Given the description of an element on the screen output the (x, y) to click on. 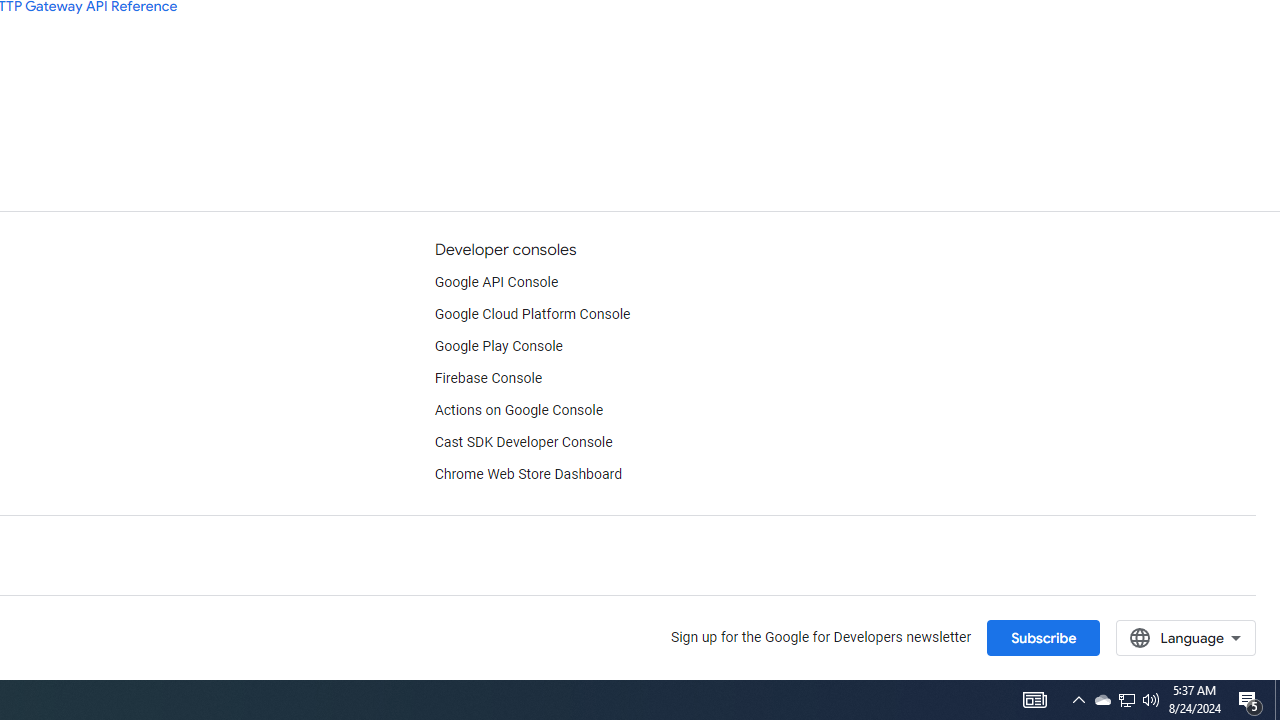
Firebase Console (487, 378)
Google Cloud Platform Console (532, 314)
Subscribe (1043, 637)
Google API Console (496, 282)
Google Play Console (498, 346)
Chrome Web Store Dashboard (528, 475)
Language (1185, 637)
Cast SDK Developer Console (523, 442)
Actions on Google Console (518, 410)
